Given the description of an element on the screen output the (x, y) to click on. 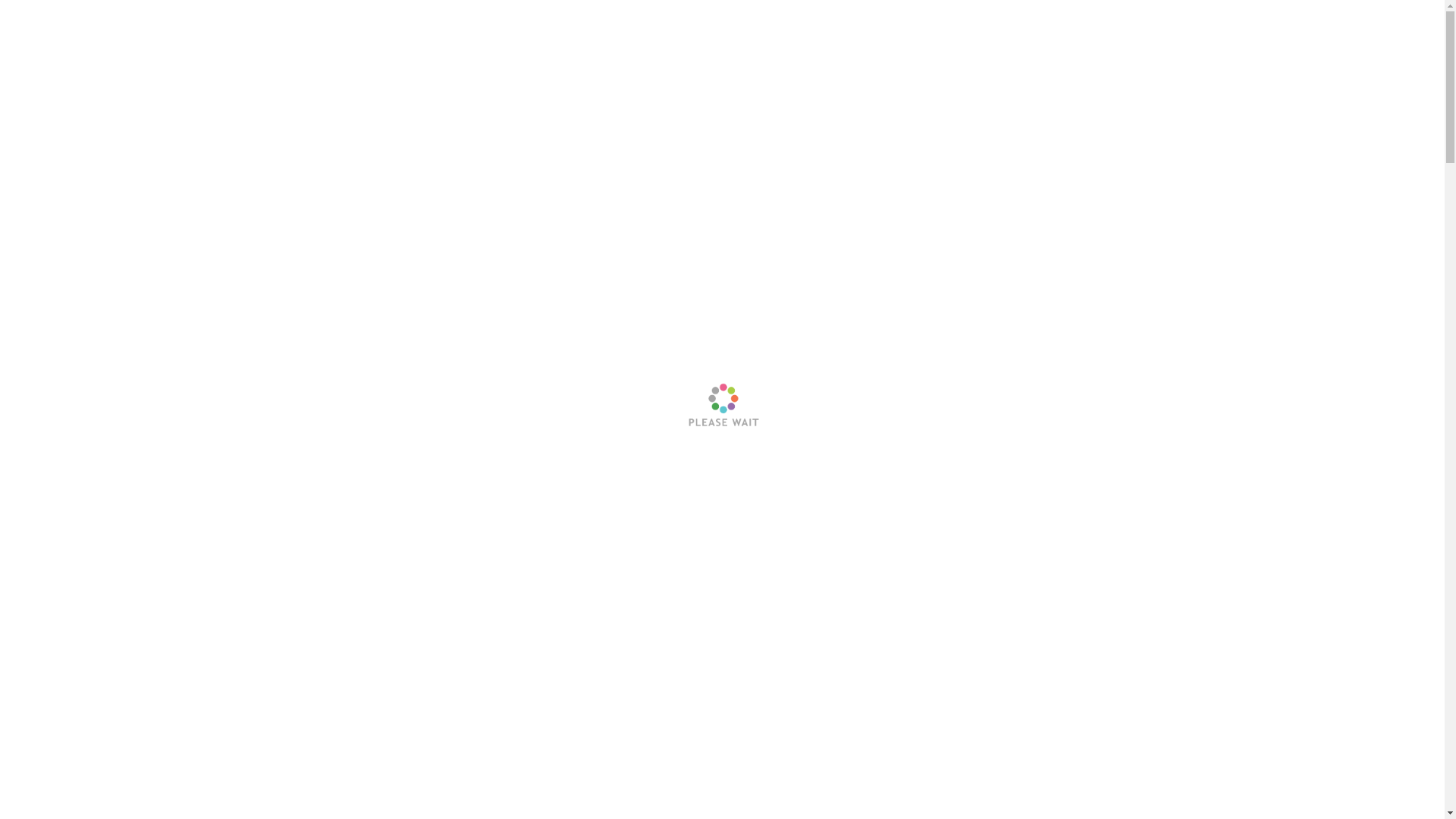
AUTOMOBILE ACCESSORIES Element type: text (982, 47)
Search Element type: text (1164, 83)
Sandra F. Delong Element type: text (321, 506)
AUTOMOBILE Element type: text (1130, 47)
AUTOMOBILE ACCESSORIES Element type: text (358, 437)
Search Element type: hover (1192, 47)
HOME Element type: text (856, 47)
